Given the description of an element on the screen output the (x, y) to click on. 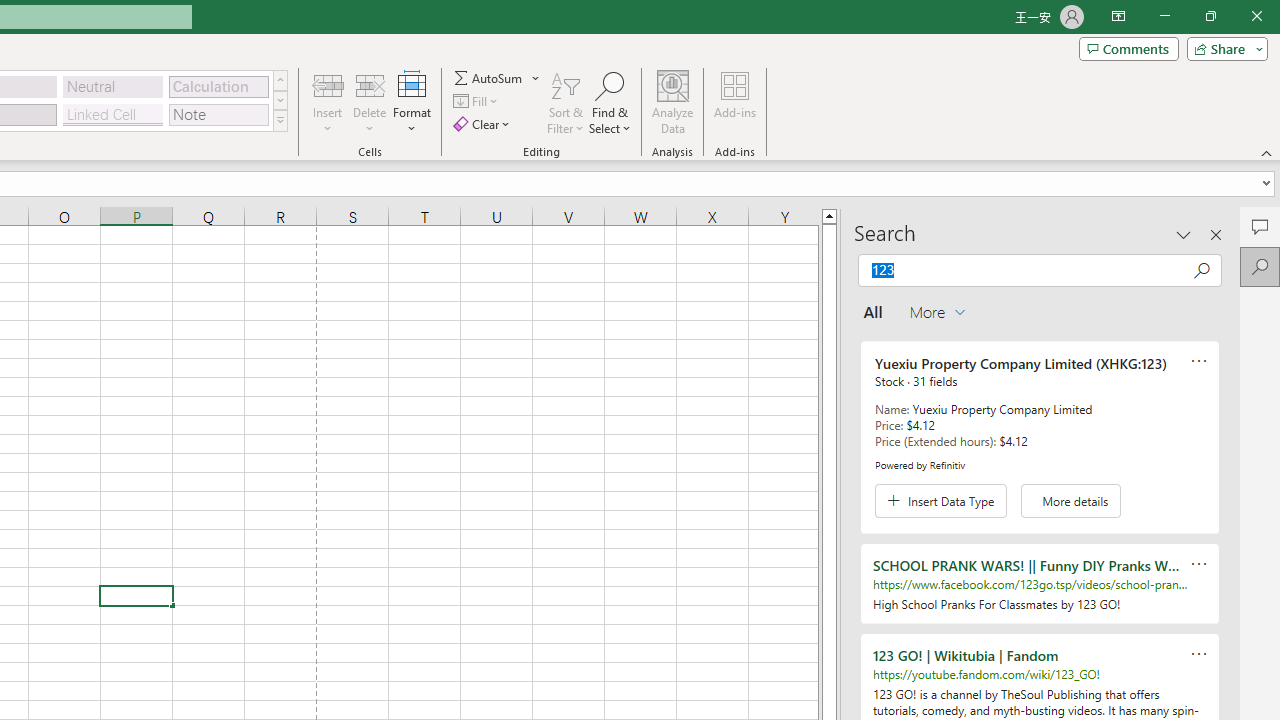
Delete (369, 102)
Row up (280, 79)
Sum (489, 78)
Format (411, 102)
Insert Cells (328, 84)
Restore Down (1210, 16)
Close pane (1215, 234)
Analyze Data (673, 102)
Task Pane Options (1183, 234)
